Given the description of an element on the screen output the (x, y) to click on. 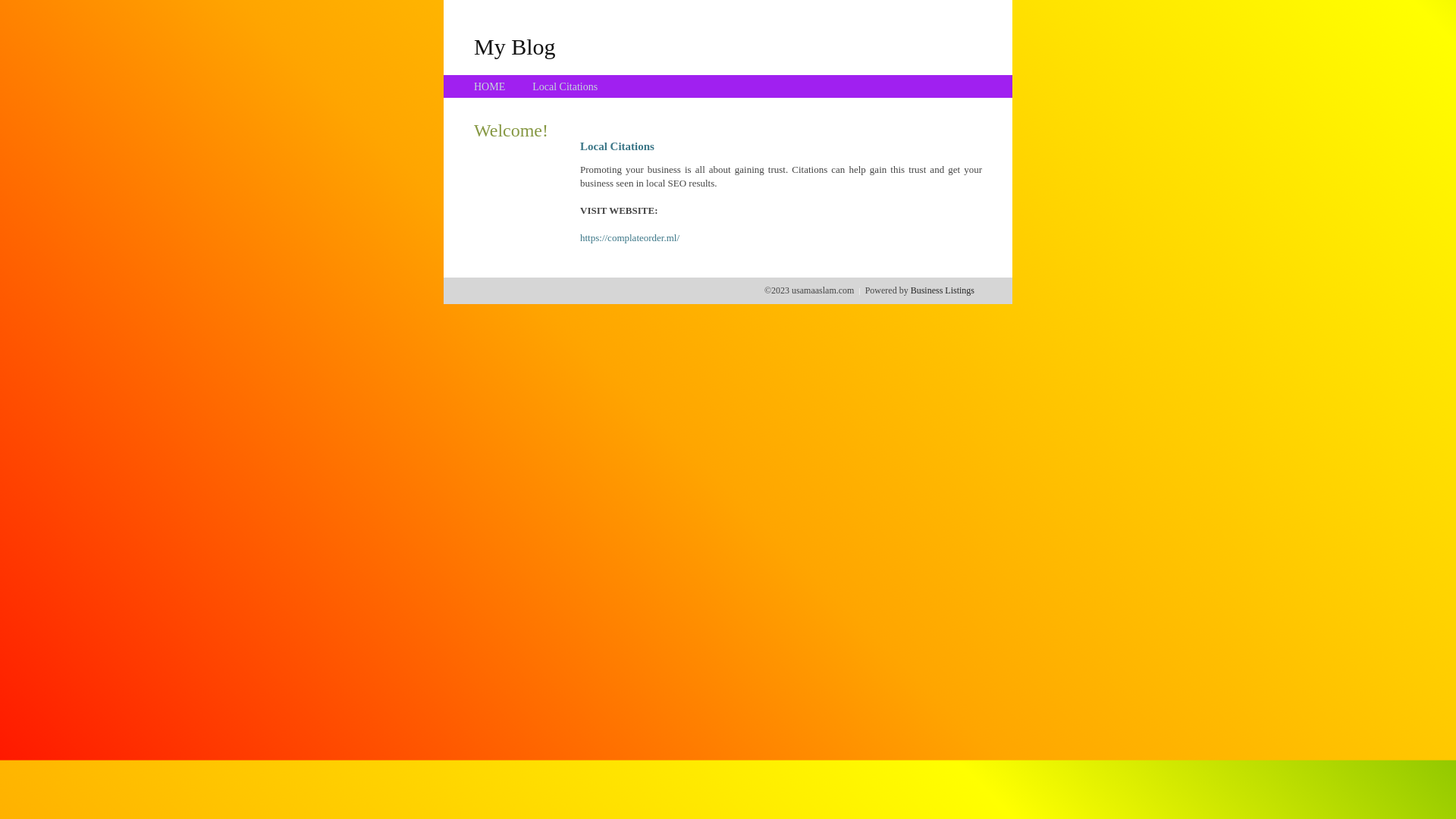
HOME Element type: text (489, 86)
Local Citations Element type: text (564, 86)
My Blog Element type: text (514, 46)
Business Listings Element type: text (942, 290)
https://complateorder.ml/ Element type: text (629, 237)
